Given the description of an element on the screen output the (x, y) to click on. 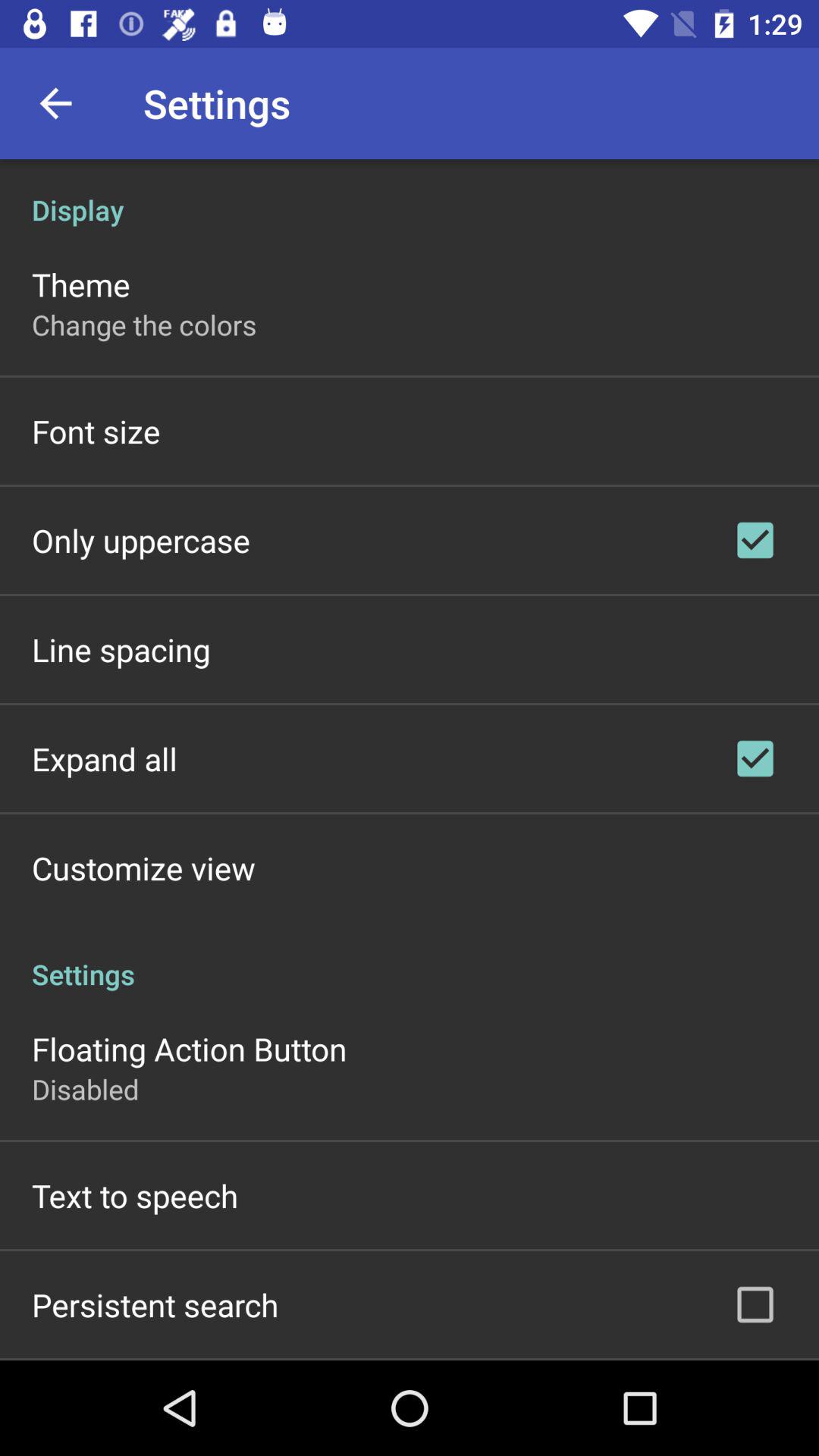
press the icon above disabled (188, 1048)
